Given the description of an element on the screen output the (x, y) to click on. 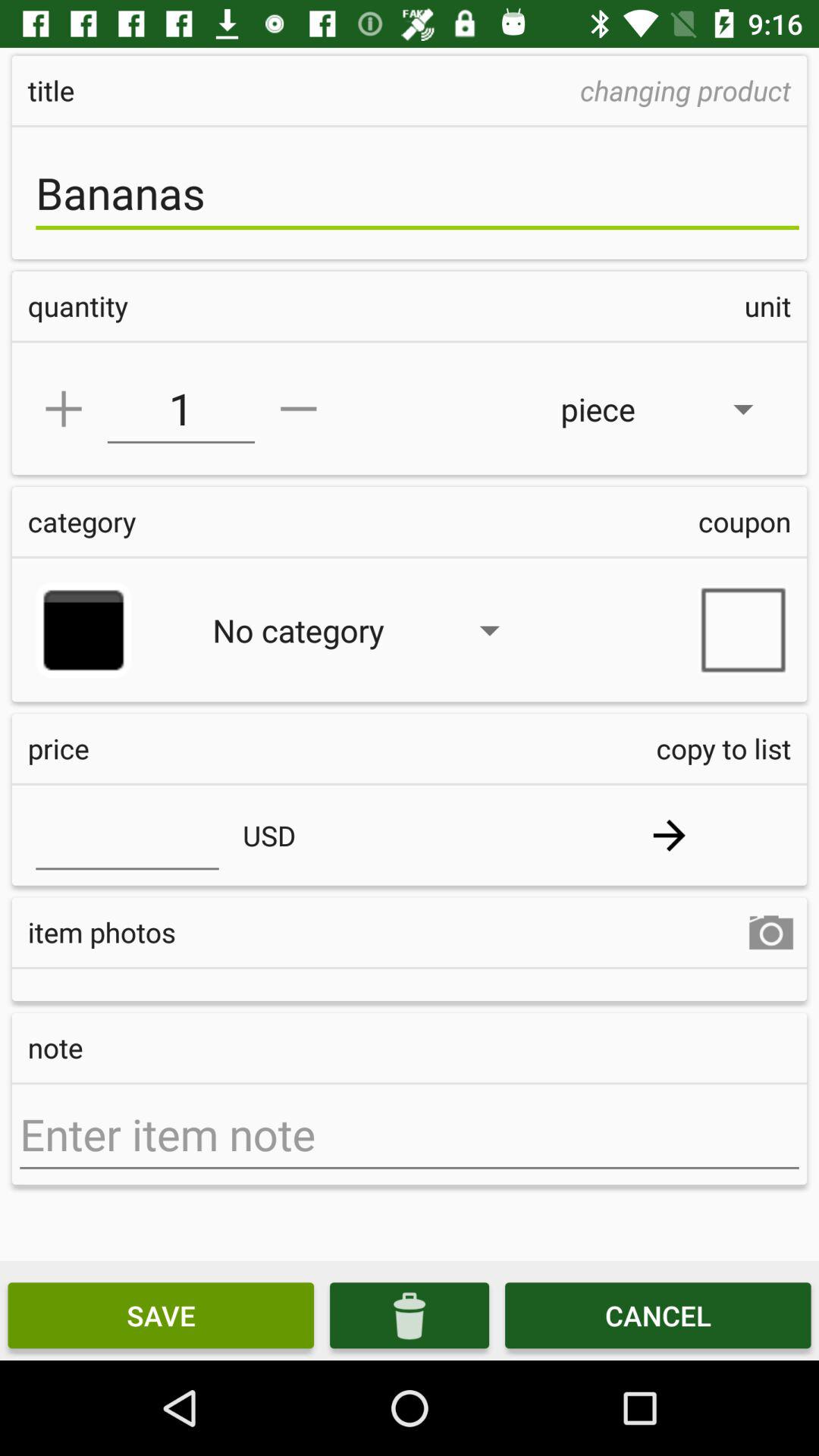
flip to bananas (417, 193)
